Given the description of an element on the screen output the (x, y) to click on. 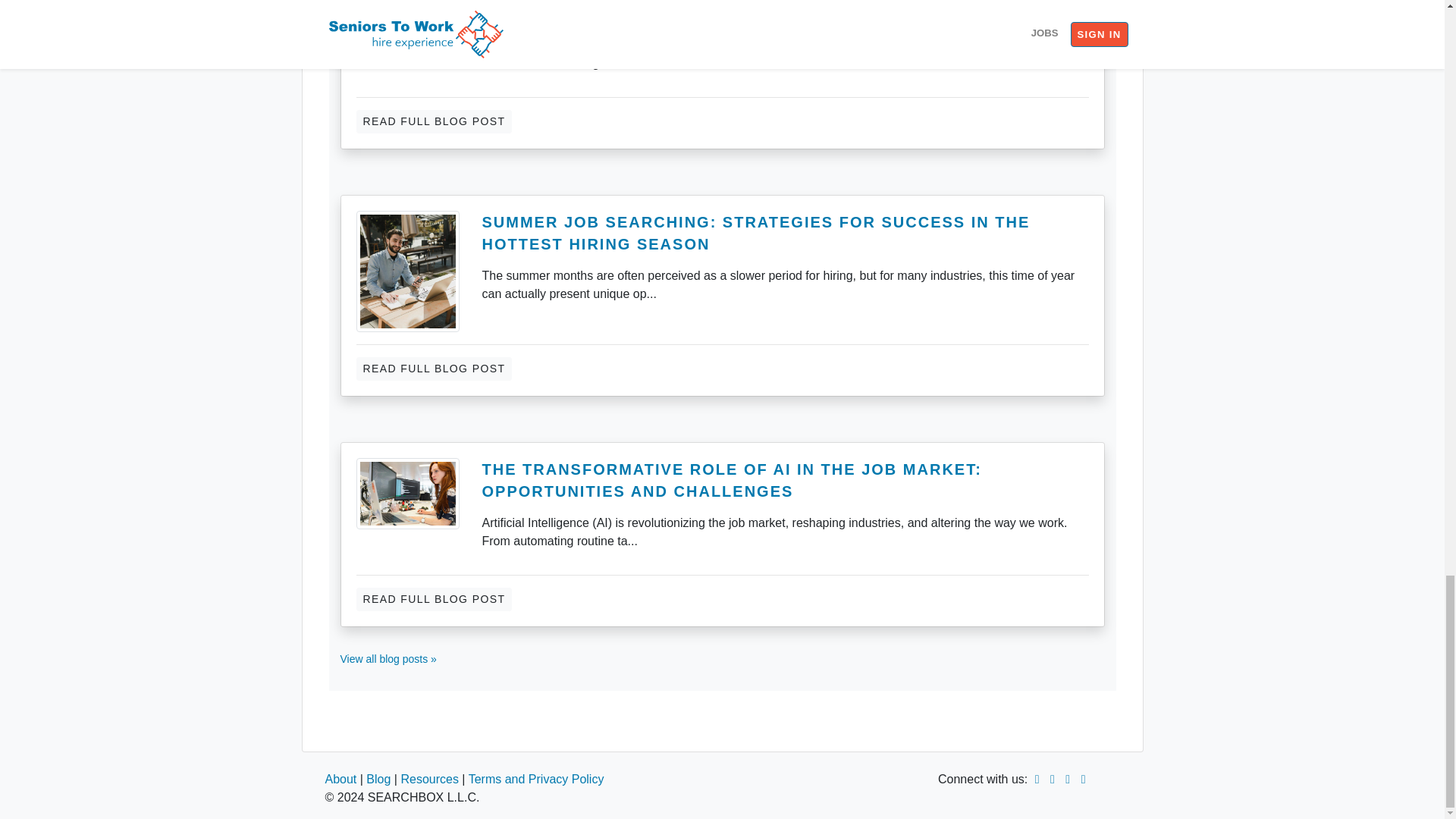
Blog (378, 779)
READ FULL BLOG POST (434, 368)
About (340, 779)
READ FULL BLOG POST (434, 599)
Terms and Privacy Policy (536, 779)
READ FULL BLOG POST (434, 121)
Resources (429, 779)
